Given the description of an element on the screen output the (x, y) to click on. 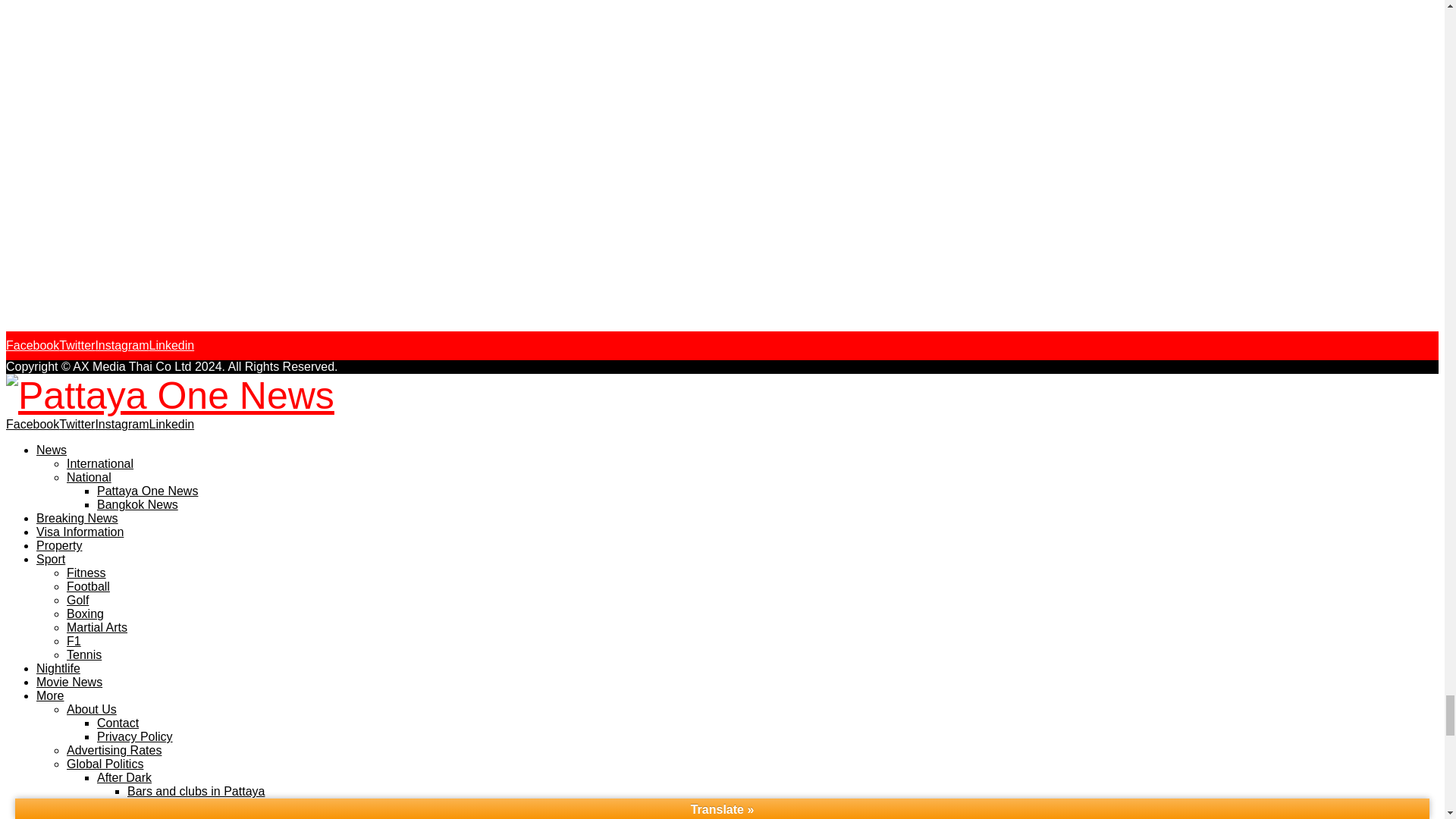
Instagram (121, 345)
Linkedin (172, 345)
Twitter (76, 345)
Facebook (32, 345)
